Given the description of an element on the screen output the (x, y) to click on. 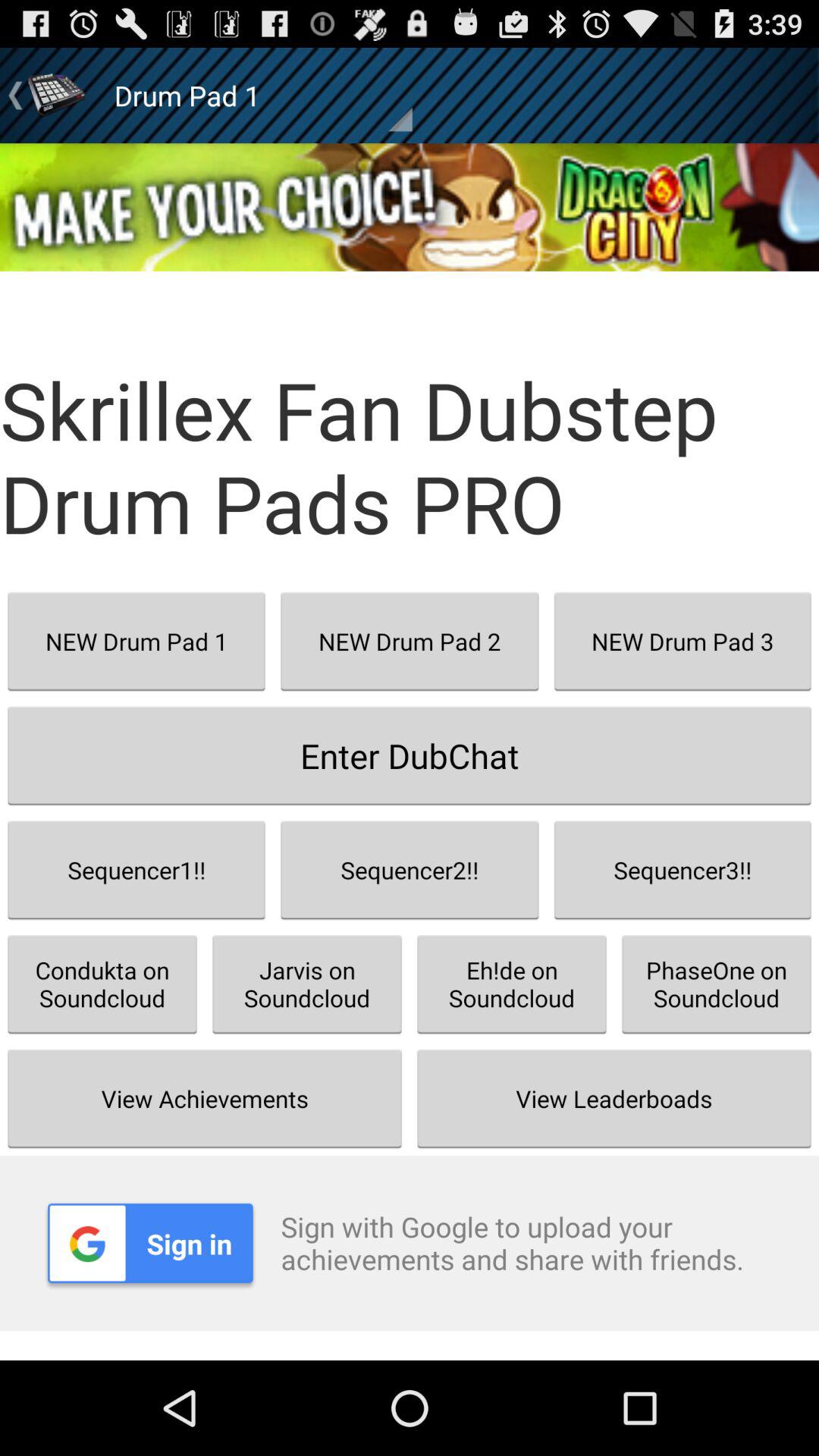
open item to the left of the sign with google app (150, 1243)
